Given the description of an element on the screen output the (x, y) to click on. 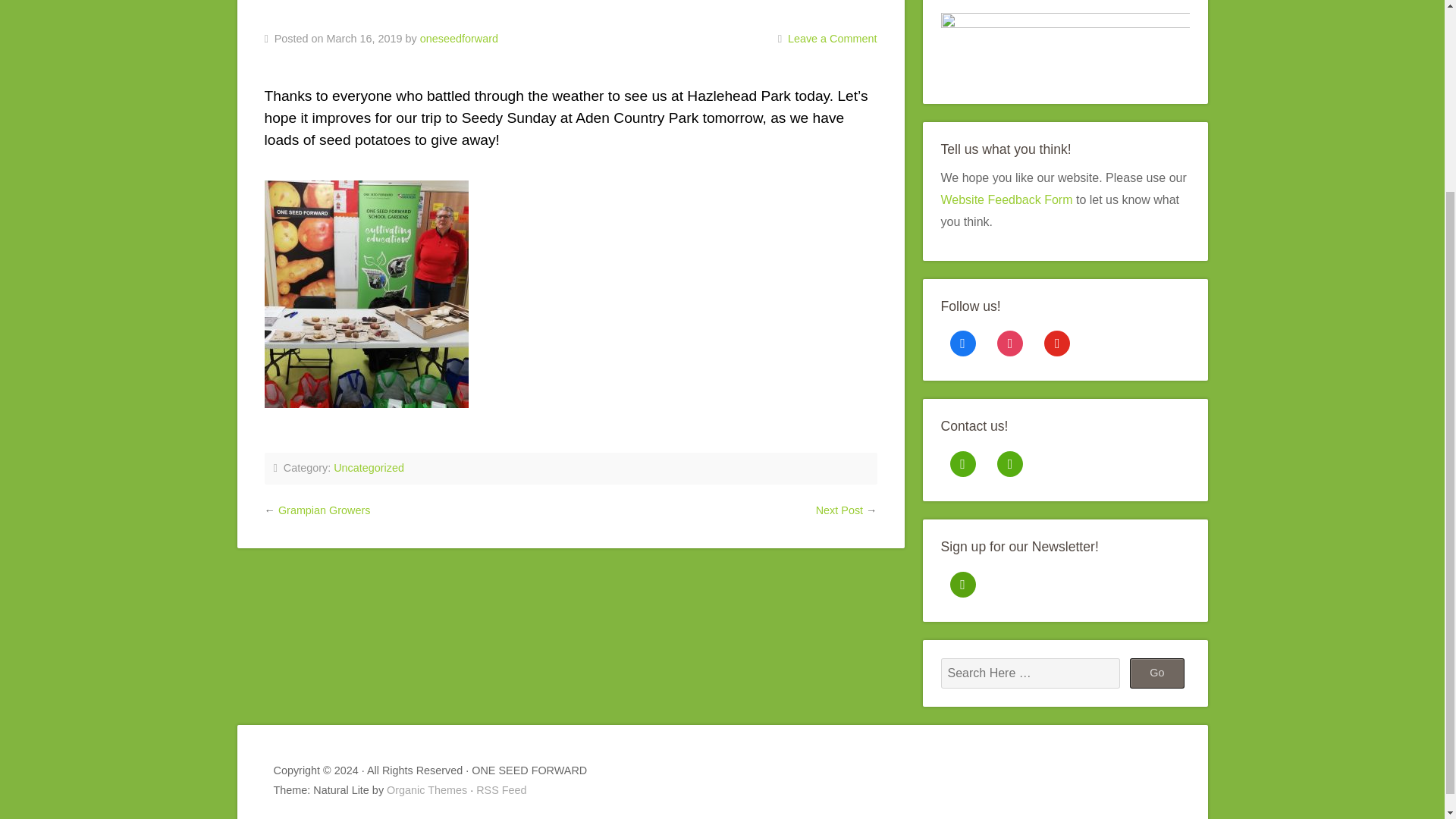
Instagram (1010, 342)
facebook (962, 342)
Grampian Growers (324, 510)
Default Label (1010, 462)
instagram (1010, 342)
contao (1010, 462)
mail (962, 462)
Posts by oneseedforward (458, 38)
Go (1157, 673)
Default Label (962, 462)
